Given the description of an element on the screen output the (x, y) to click on. 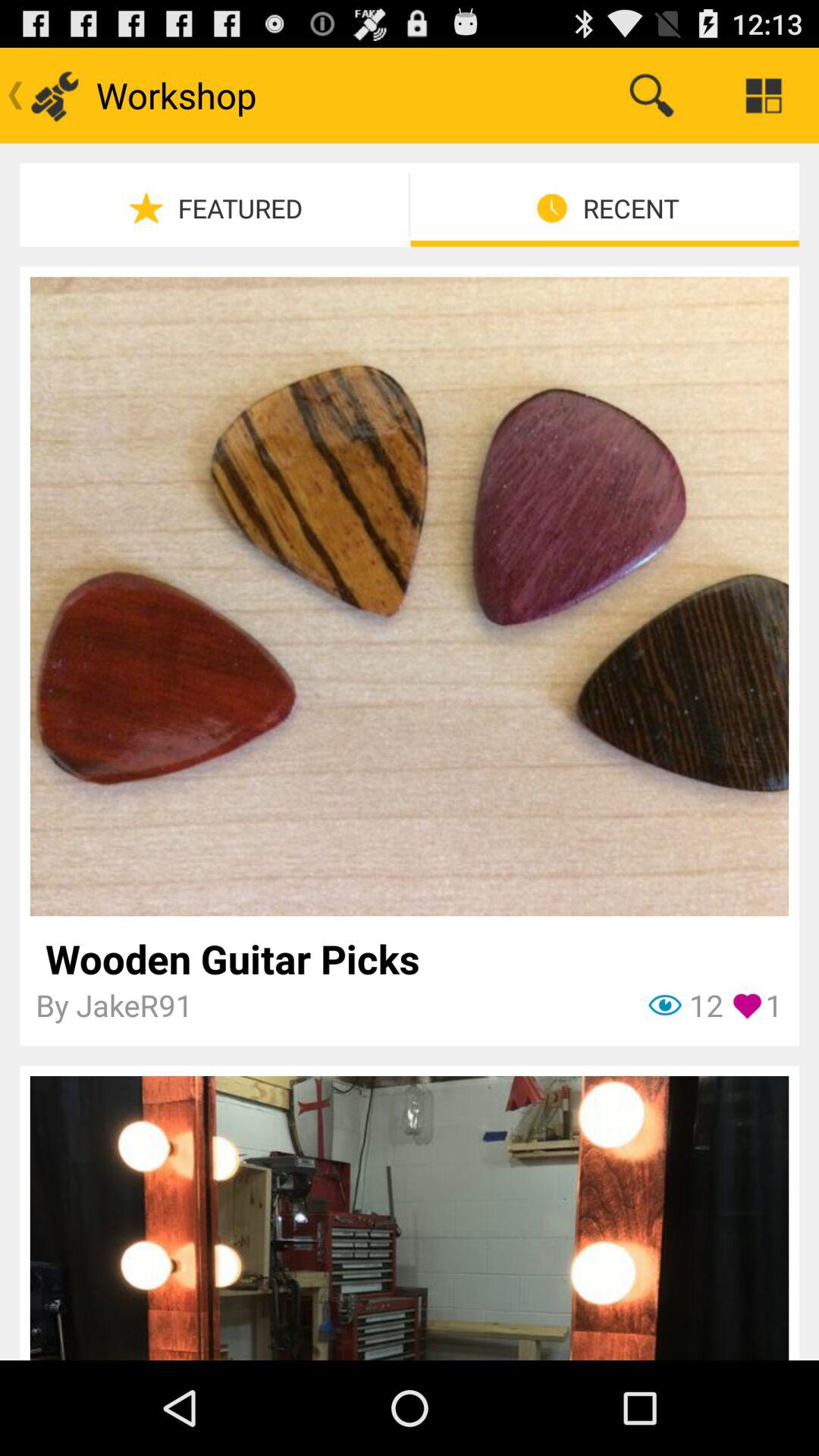
select the app to the right of the workshop app (651, 95)
